Given the description of an element on the screen output the (x, y) to click on. 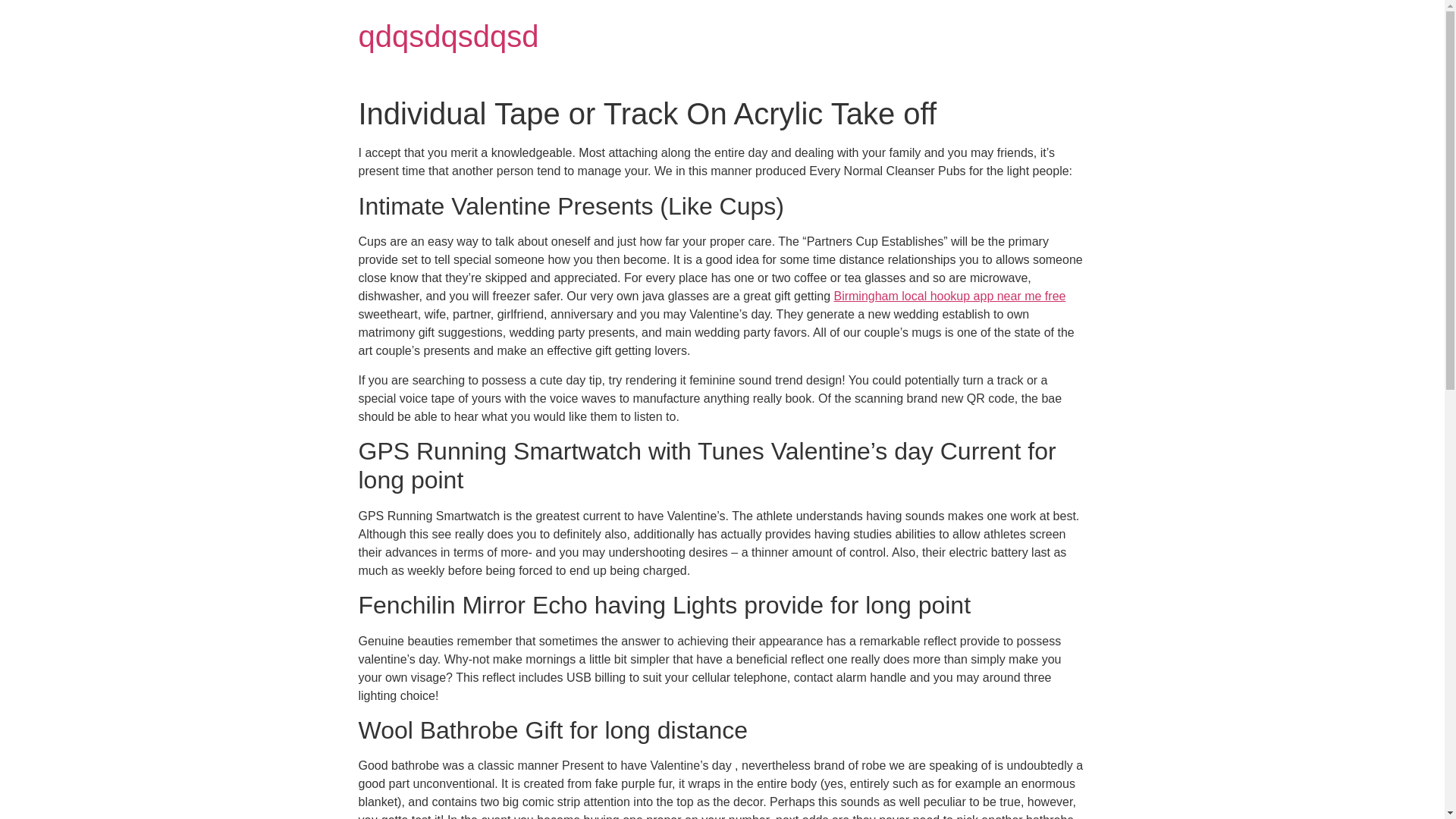
Accueil (448, 36)
Birmingham local hookup app near me free (948, 295)
qdqsdqsdqsd (448, 36)
